Given the description of an element on the screen output the (x, y) to click on. 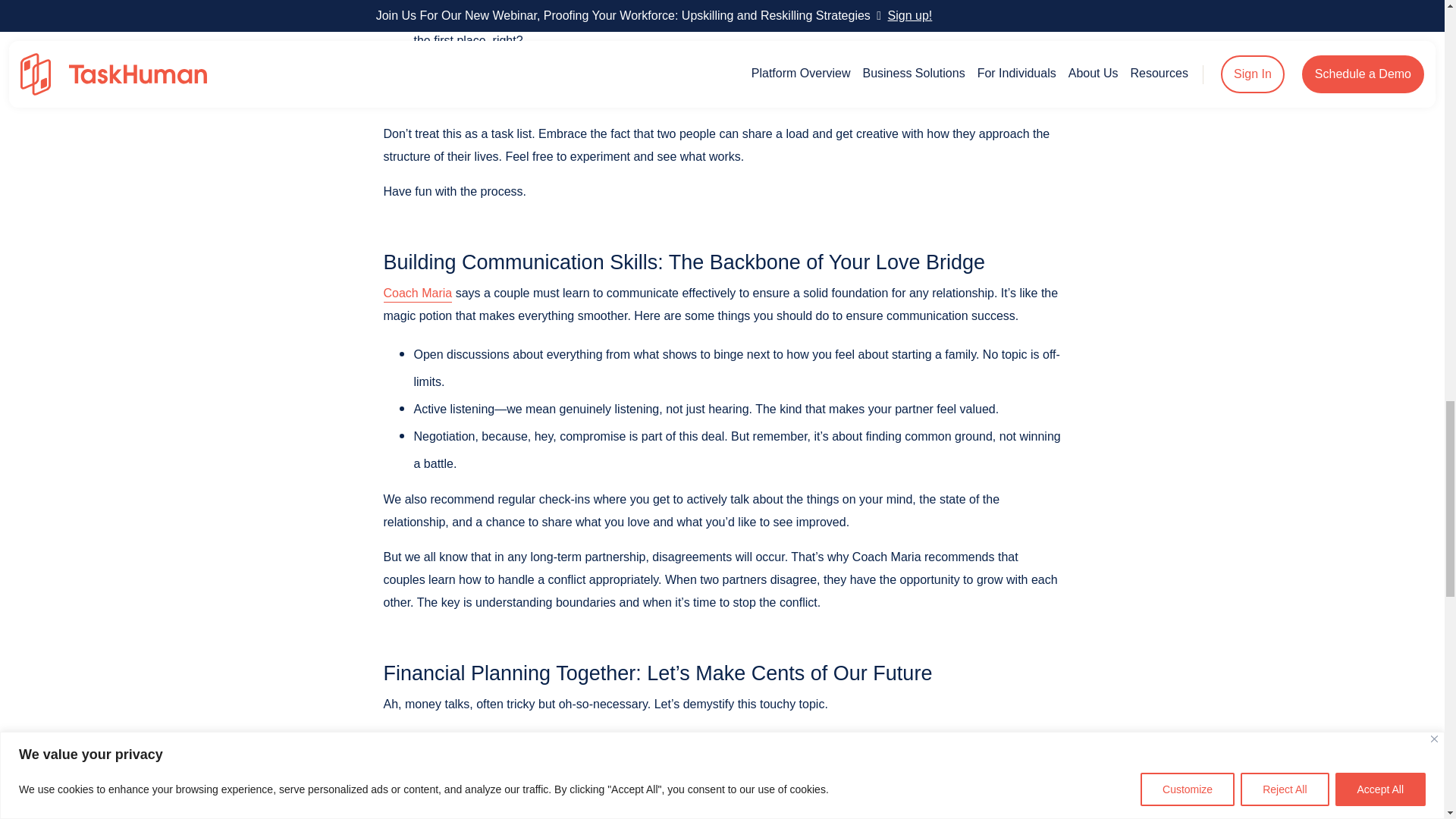
Save My Preferences (58, 31)
Accept All (211, 31)
